Given the description of an element on the screen output the (x, y) to click on. 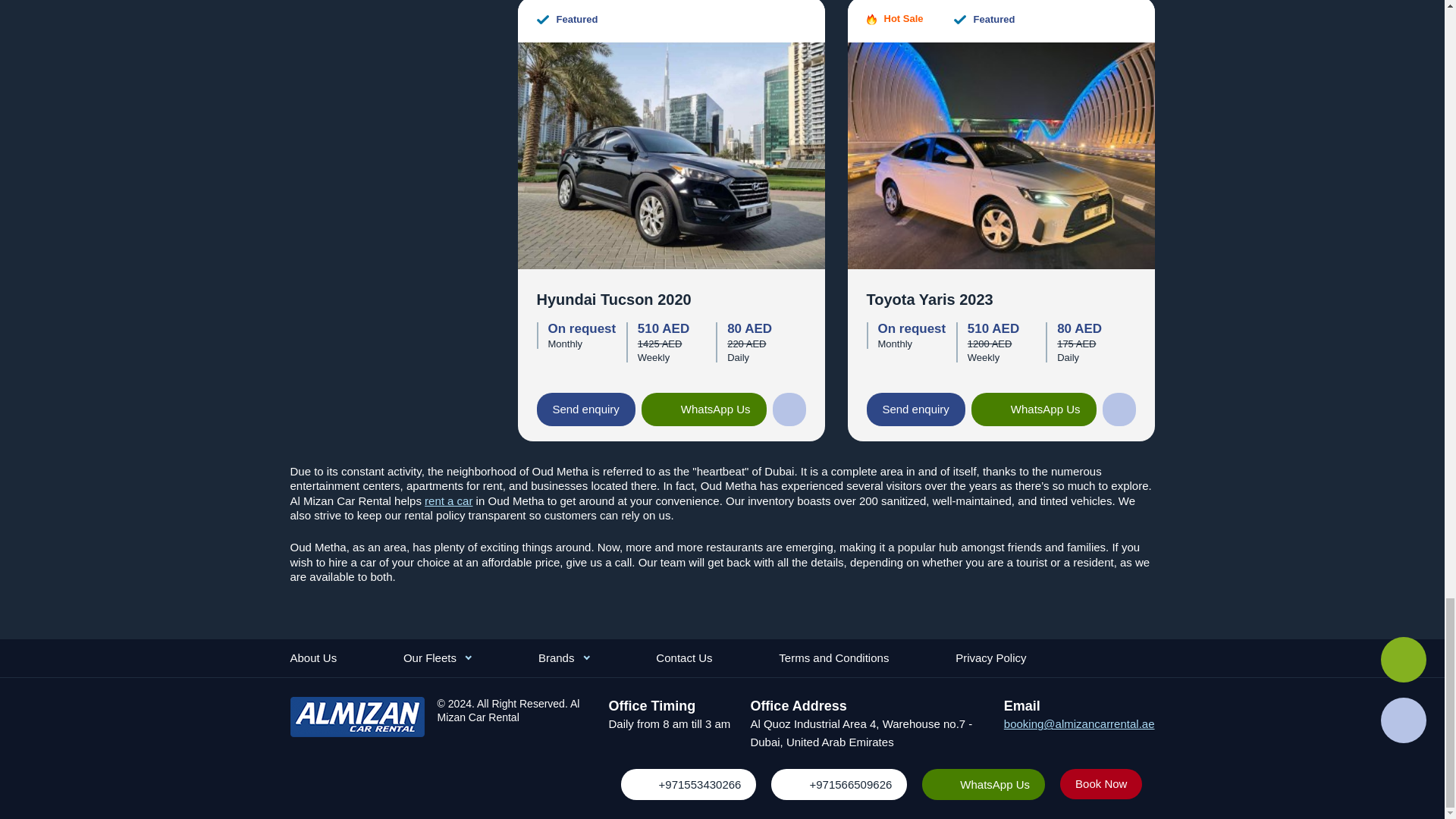
Hyundai Tucson 2020 (670, 153)
Toyota Yaris 2023 (1000, 153)
